Given the description of an element on the screen output the (x, y) to click on. 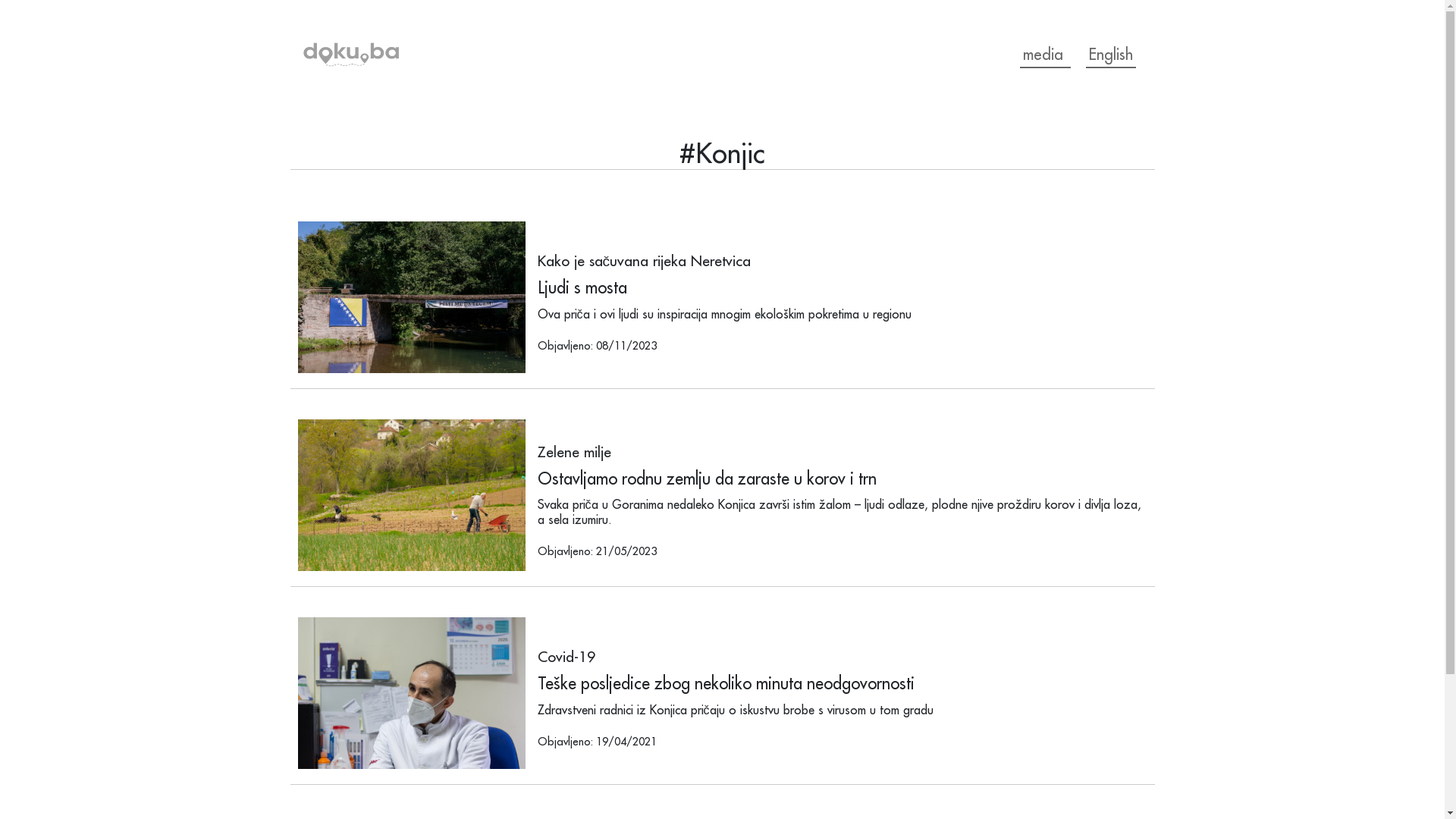
media Element type: text (1044, 54)
English Element type: text (1110, 54)
